Given the description of an element on the screen output the (x, y) to click on. 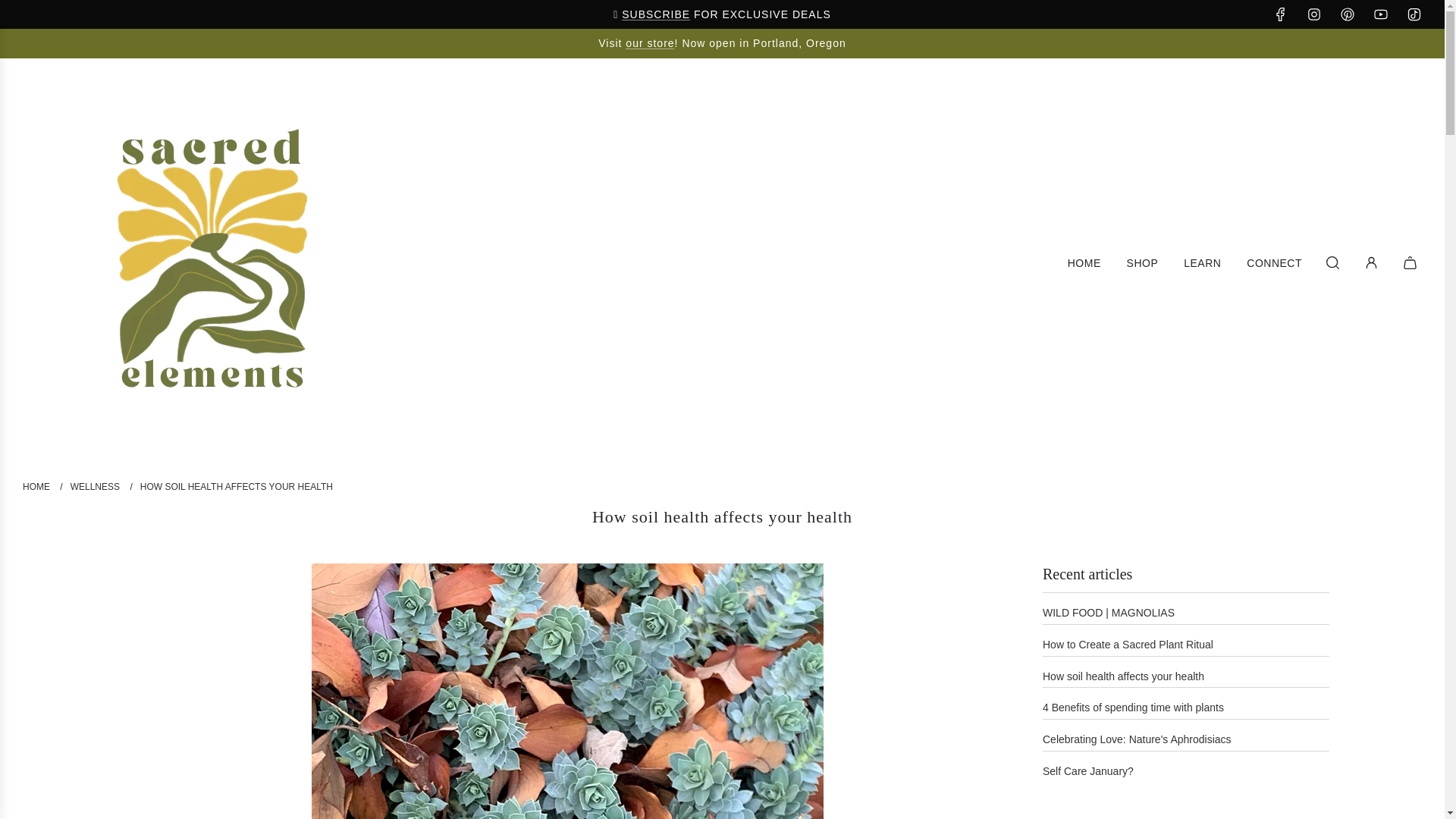
Back to the frontpage (37, 486)
SUBSCRIBE (655, 14)
Wellness (95, 486)
our store (650, 42)
Newsletter Sign Up (655, 14)
HOME (1084, 262)
Log in (1371, 262)
SHOP (1142, 262)
